Given the description of an element on the screen output the (x, y) to click on. 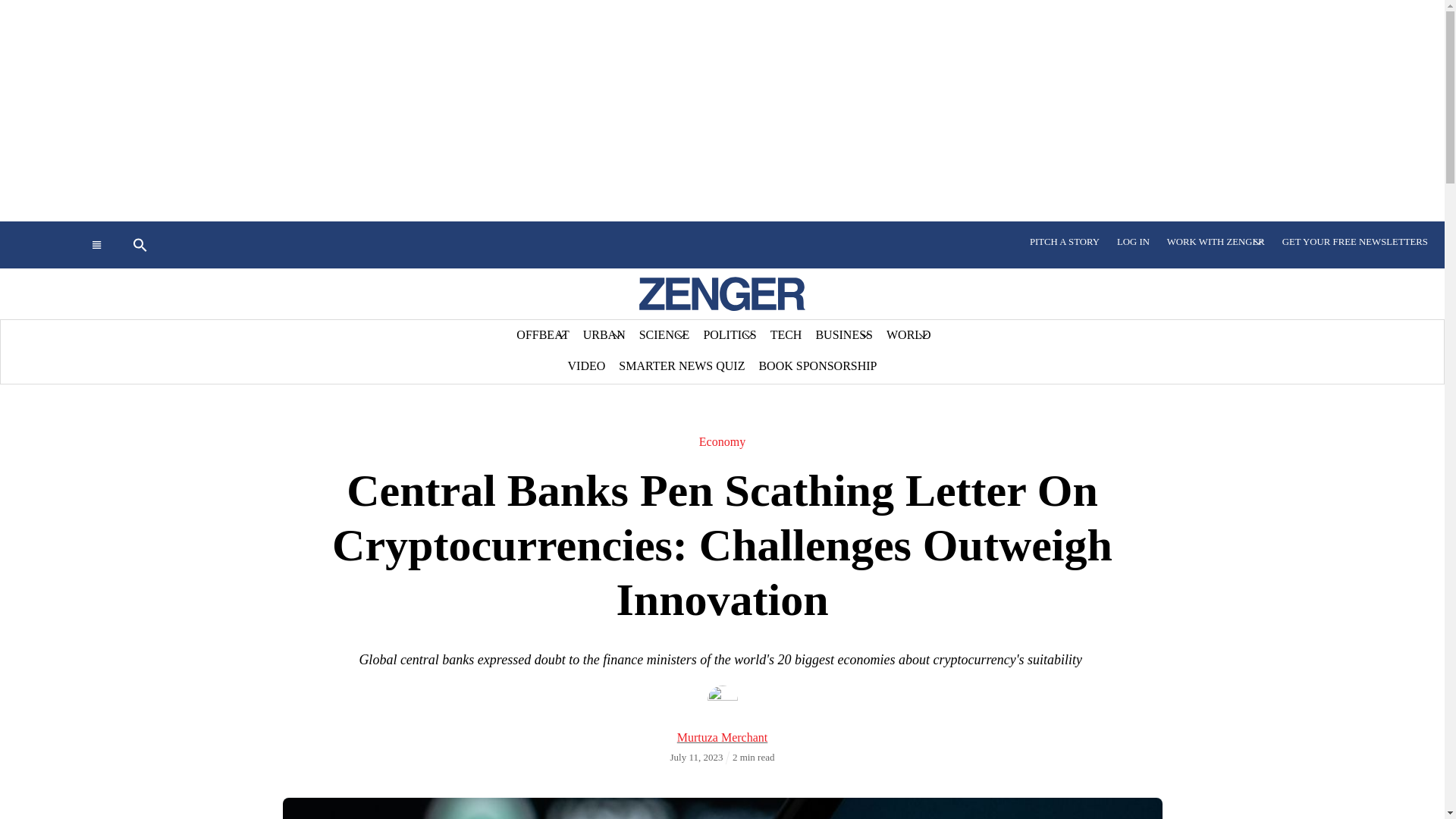
WORK WITH ZENGER (1215, 242)
PITCH A STORY (1065, 242)
POLITICS (728, 335)
LOG IN (1132, 242)
BUSINESS (843, 335)
URBAN (603, 335)
TECH (785, 335)
OFFBEAT (542, 335)
